Given the description of an element on the screen output the (x, y) to click on. 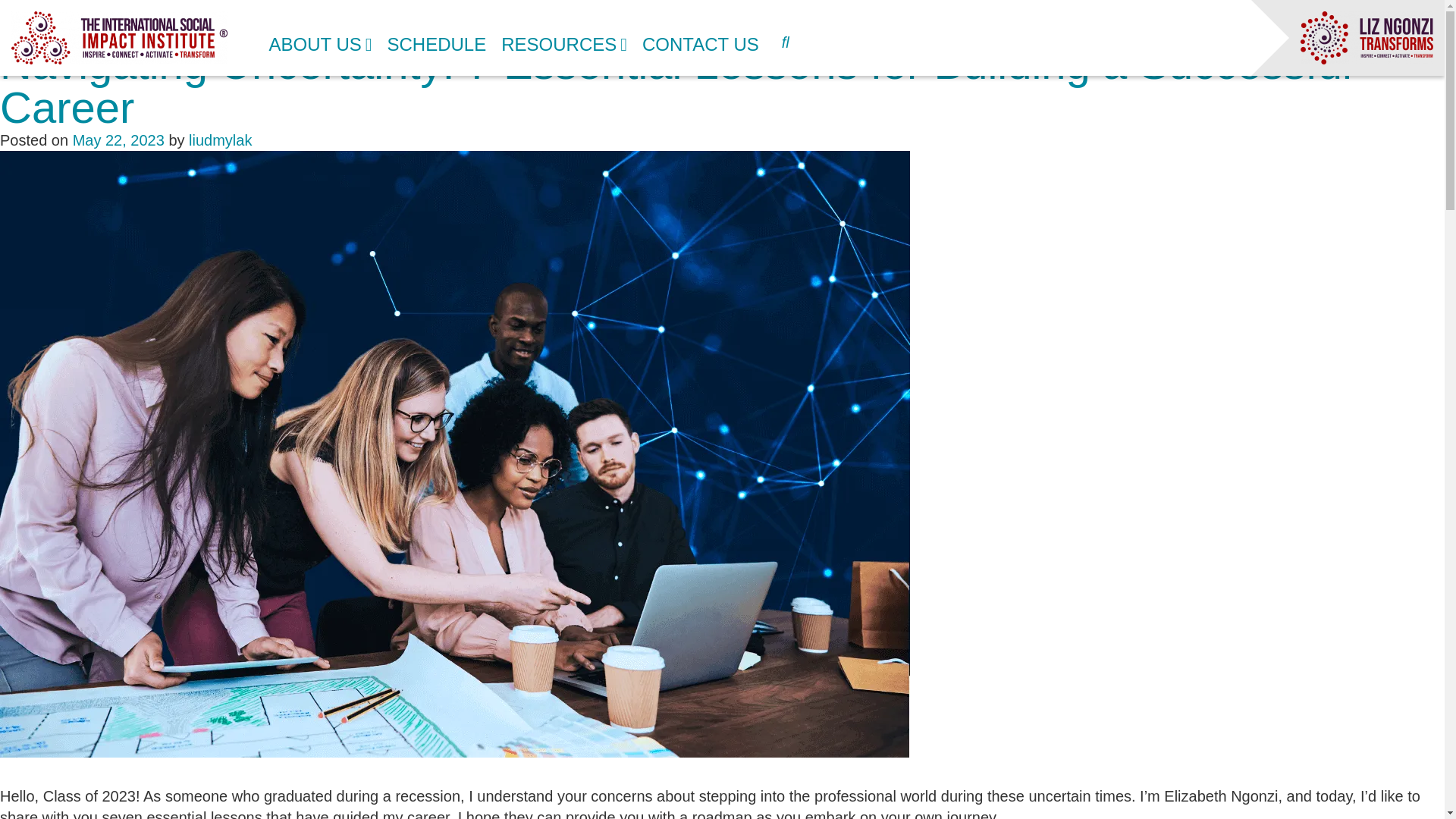
SCHEDULE (437, 38)
liudmylak (220, 140)
CONTACT US (700, 38)
RESOURCES (563, 38)
ABOUT US (319, 38)
May 22, 2023 (118, 140)
